Given the description of an element on the screen output the (x, y) to click on. 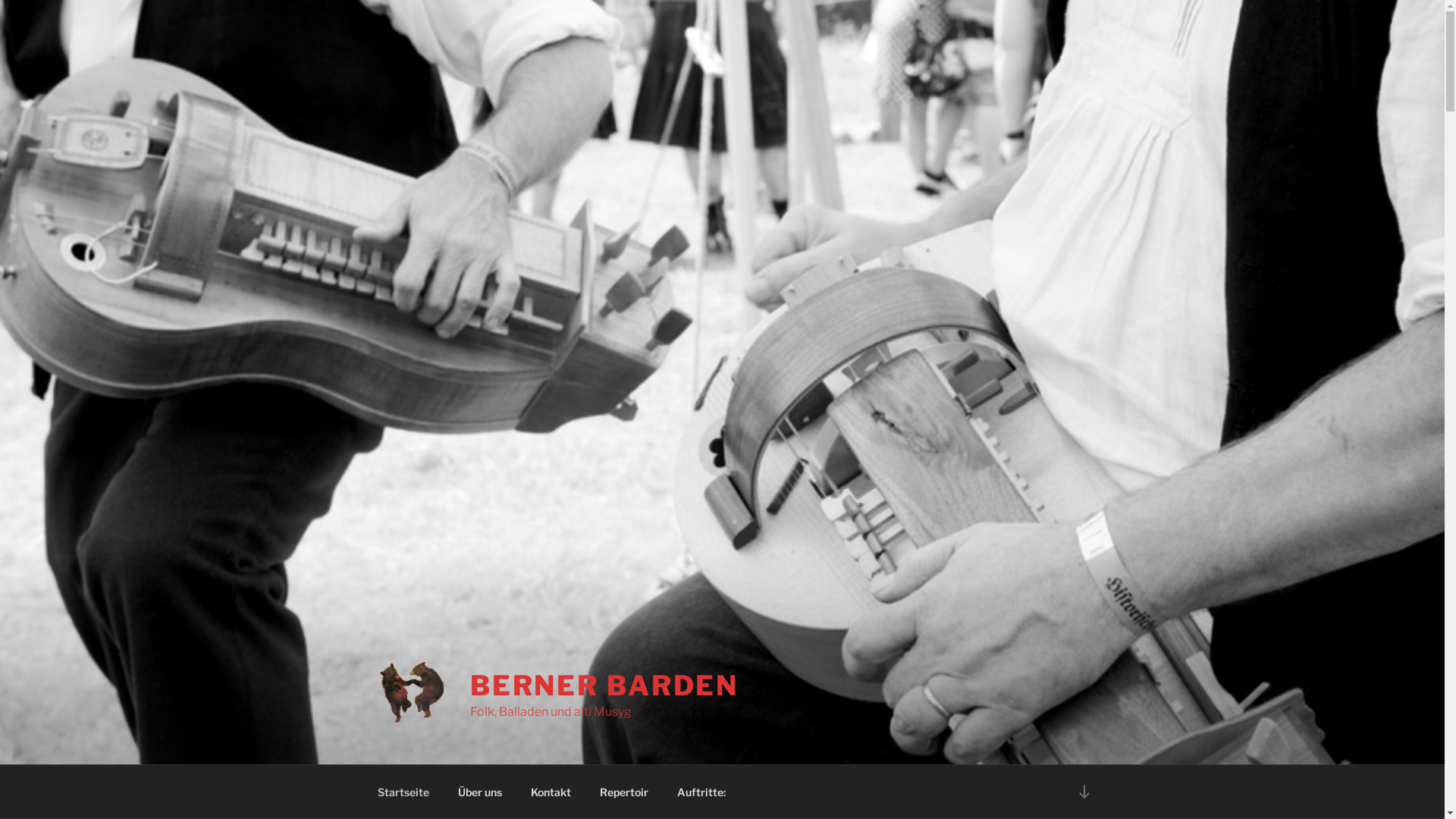
Repertoir Element type: text (624, 791)
Kontakt Element type: text (550, 791)
Zum Inhalt nach unten scrollen Element type: text (1083, 790)
Startseite Element type: text (403, 791)
BERNER BARDEN Element type: text (604, 685)
Auftritte: Element type: text (701, 791)
